Given the description of an element on the screen output the (x, y) to click on. 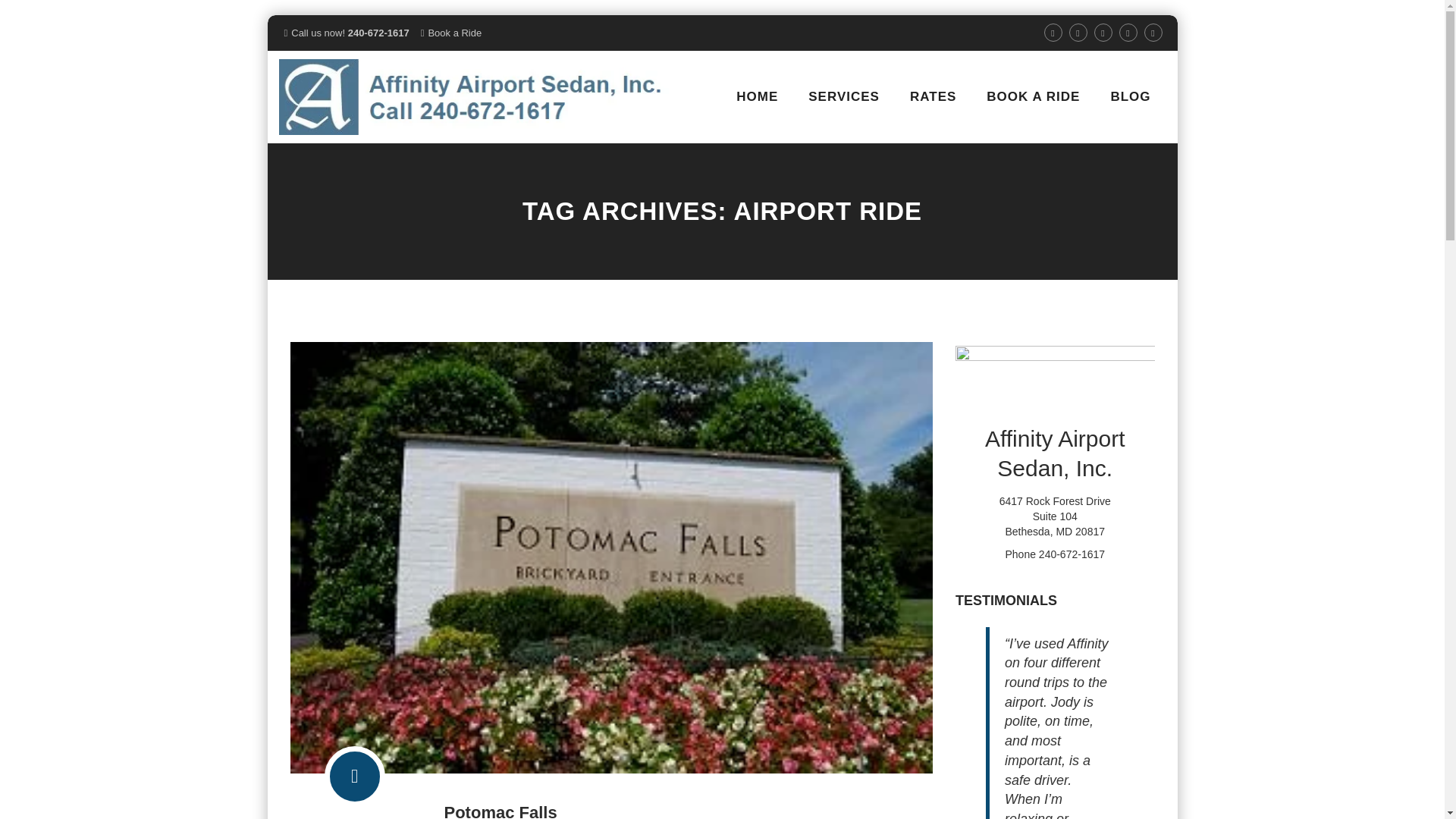
Affinity Airport Sedan, Inc. (473, 96)
Book a Ride (454, 32)
BOOK A RIDE (1032, 96)
Potomac Falls (500, 811)
SERVICES (844, 96)
RATES (933, 96)
HOME (756, 96)
BLOG (1130, 96)
